Given the description of an element on the screen output the (x, y) to click on. 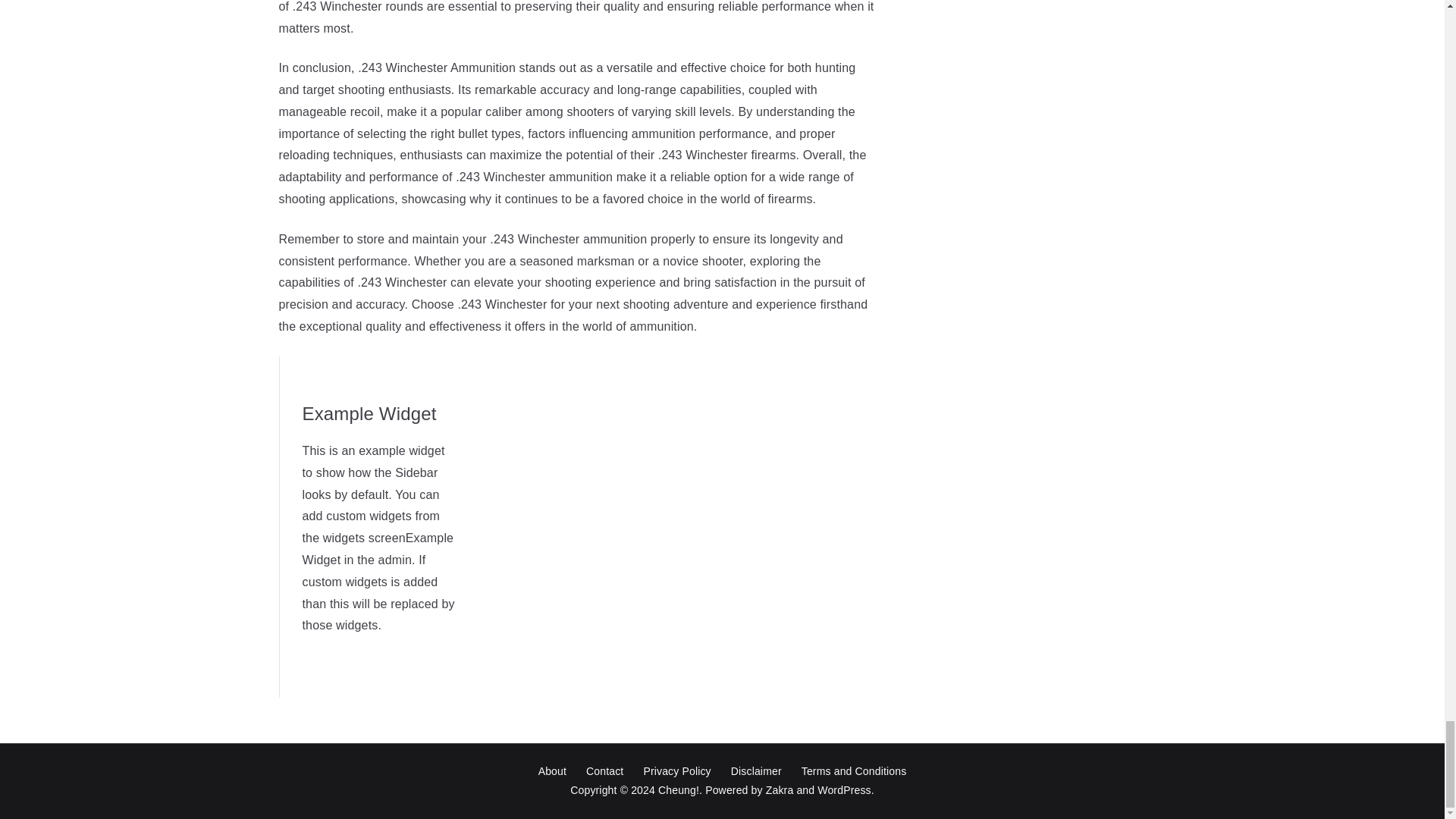
Zakra (779, 789)
About (552, 771)
Cheung! (678, 789)
